Given the description of an element on the screen output the (x, y) to click on. 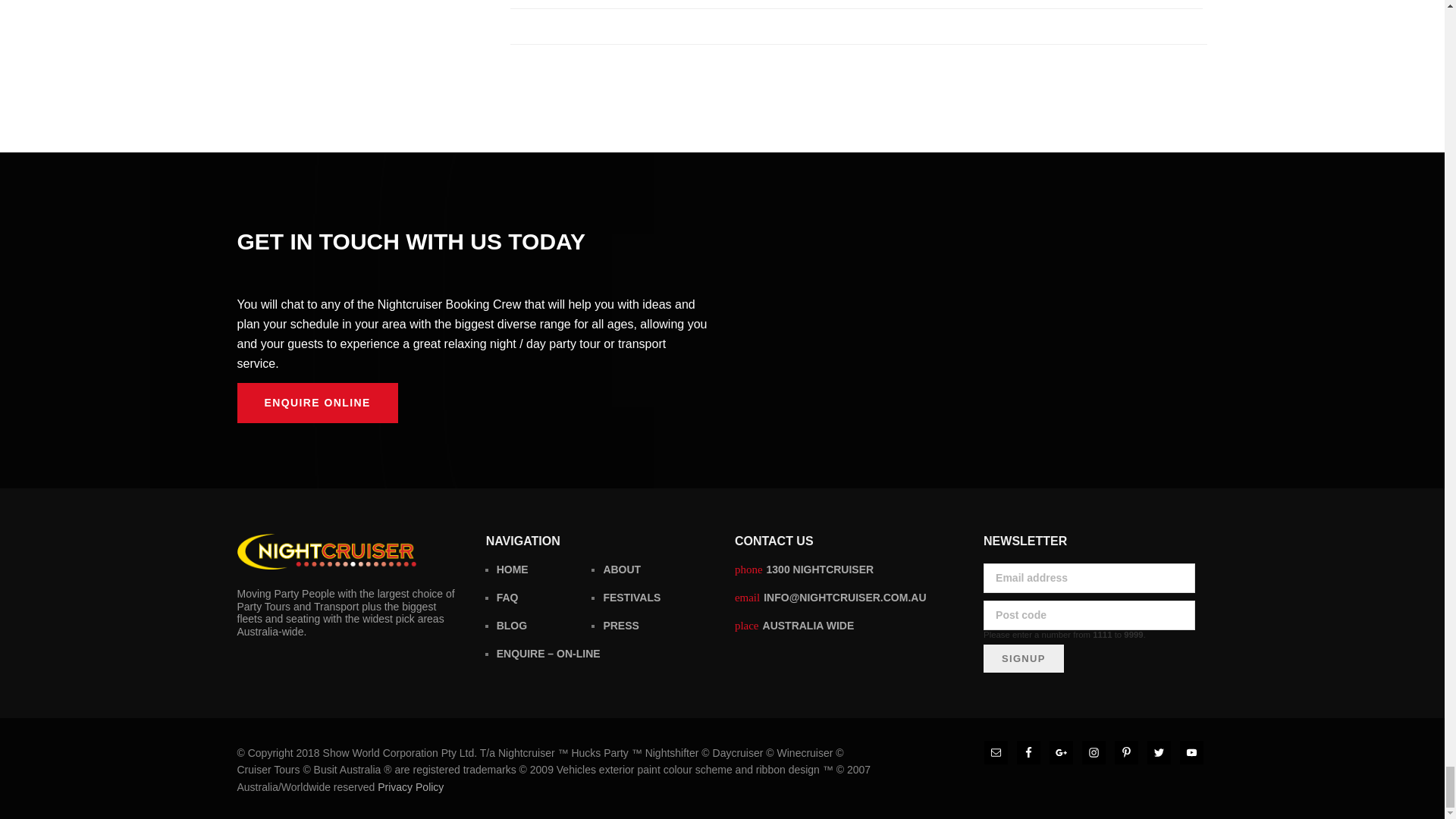
Signup (1024, 658)
HOME (512, 569)
FAQ (507, 597)
BLOG (511, 625)
PRESS (620, 625)
ENQUIRE ONLINE (316, 403)
ABOUT (621, 569)
FESTIVALS (631, 597)
